Given the description of an element on the screen output the (x, y) to click on. 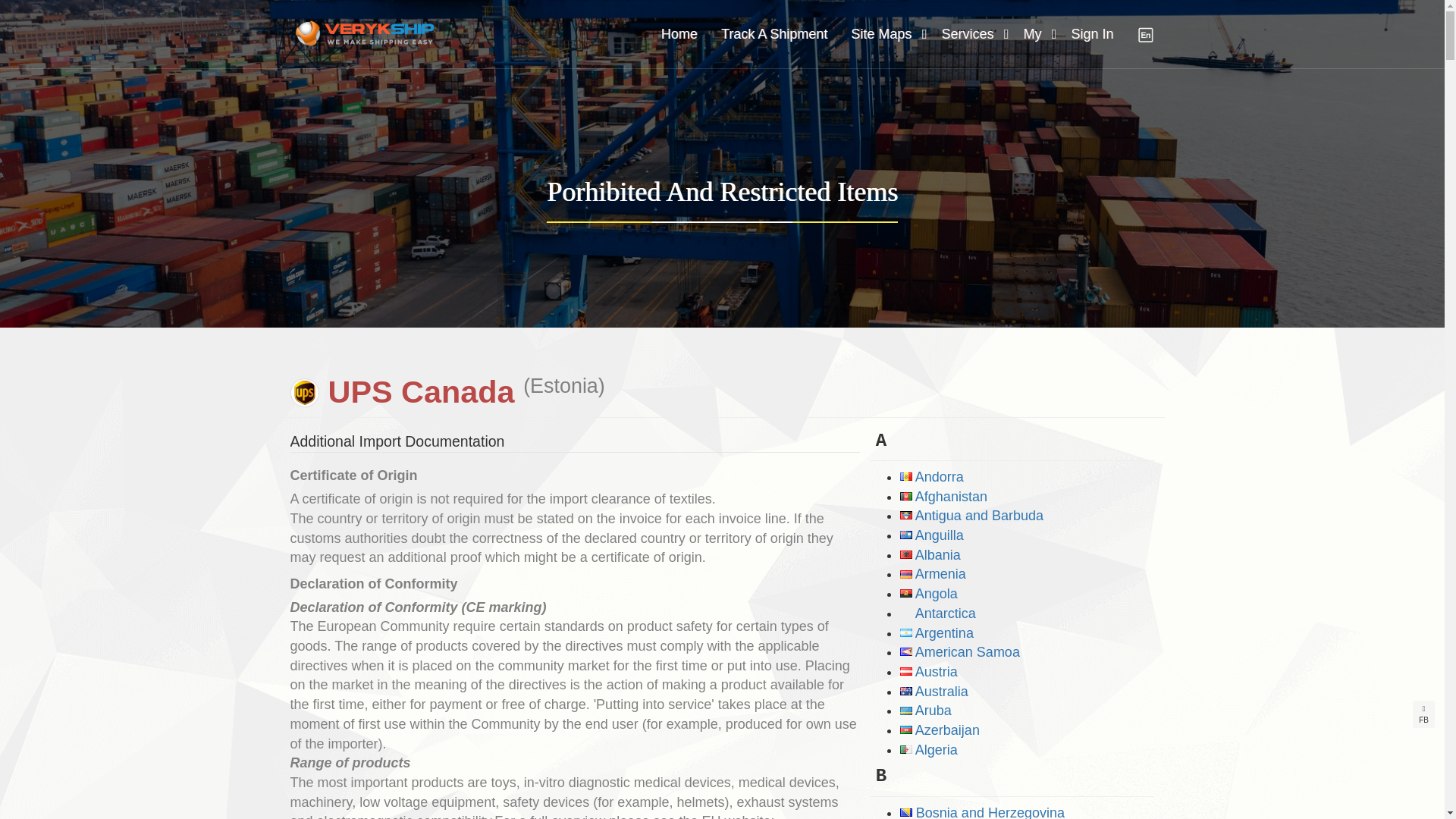
Site Maps (880, 34)
Track A Shipment (773, 34)
Services (966, 34)
